Given the description of an element on the screen output the (x, y) to click on. 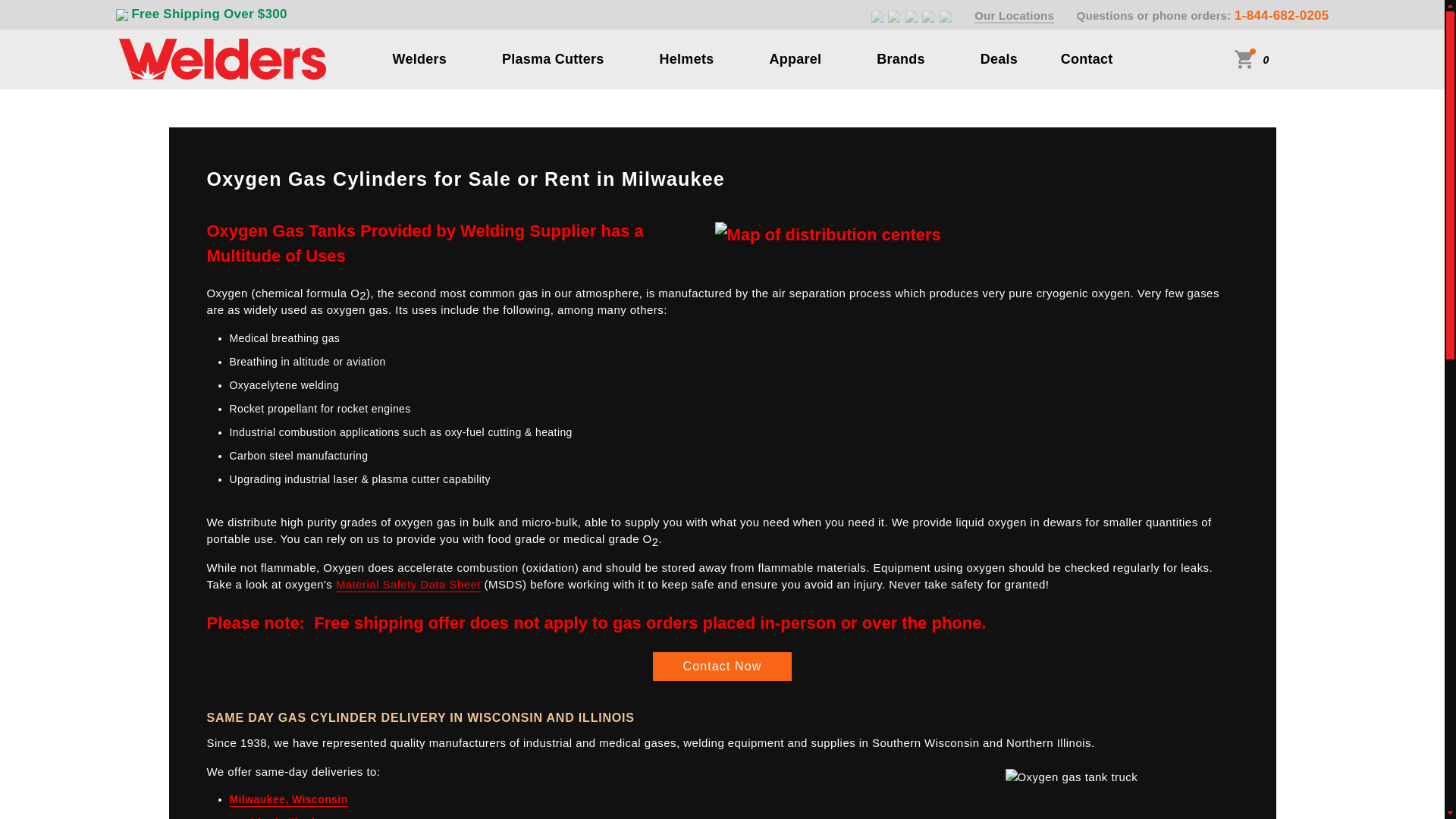
Plasma Cutters (553, 58)
We Are Welders (221, 57)
Our Locations (1014, 16)
Welders (419, 58)
Questions or phone orders: 1-844-682-0205 (1203, 15)
The worlds best plasma prices at the lowest prices (553, 58)
Helmets (686, 58)
